Given the description of an element on the screen output the (x, y) to click on. 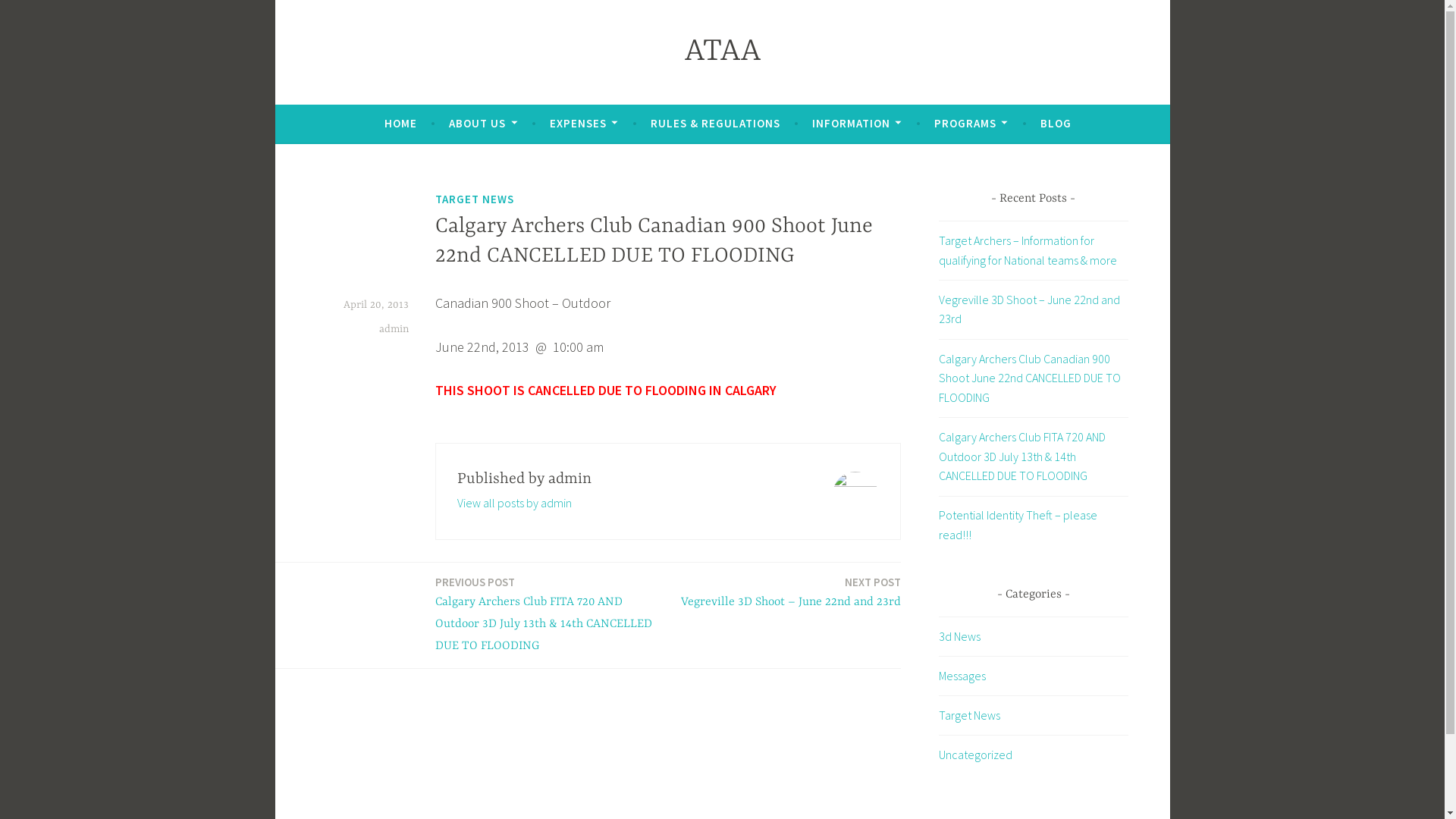
3d News Element type: text (959, 635)
admin Element type: text (393, 329)
ABOUT US Element type: text (482, 123)
Uncategorized Element type: text (975, 754)
Target News Element type: text (969, 714)
View all posts by admin Element type: text (514, 502)
ATAA Element type: text (721, 51)
April 20, 2013 Element type: text (374, 304)
EXPENSES Element type: text (583, 123)
INFORMATION Element type: text (856, 123)
TARGET NEWS Element type: text (474, 199)
Messages Element type: text (961, 675)
RULES & REGULATIONS Element type: text (715, 123)
BLOG Element type: text (1055, 123)
PROGRAMS Element type: text (970, 123)
HOME Element type: text (400, 123)
